Given the description of an element on the screen output the (x, y) to click on. 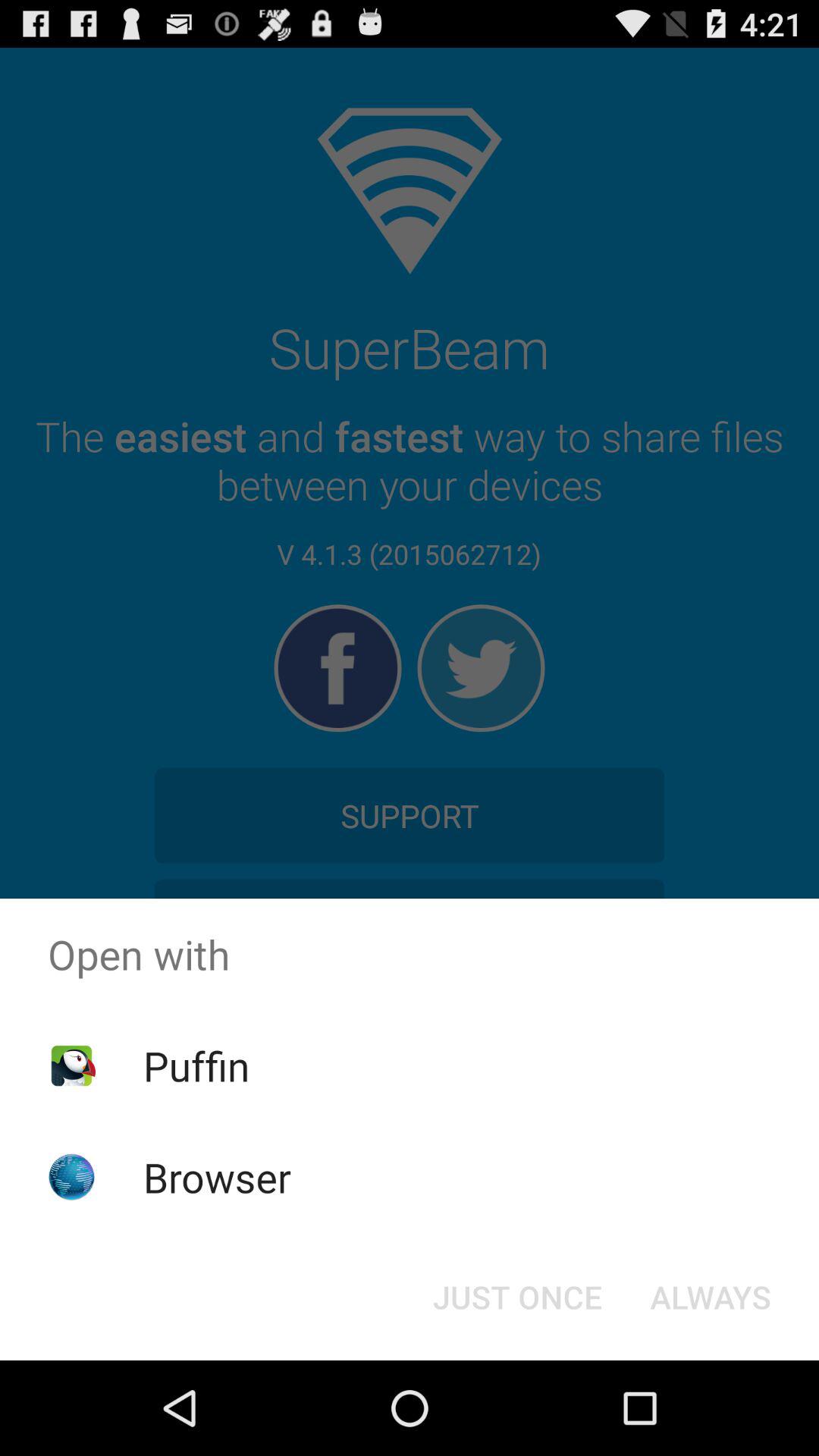
tap the item next to just once item (710, 1296)
